Given the description of an element on the screen output the (x, y) to click on. 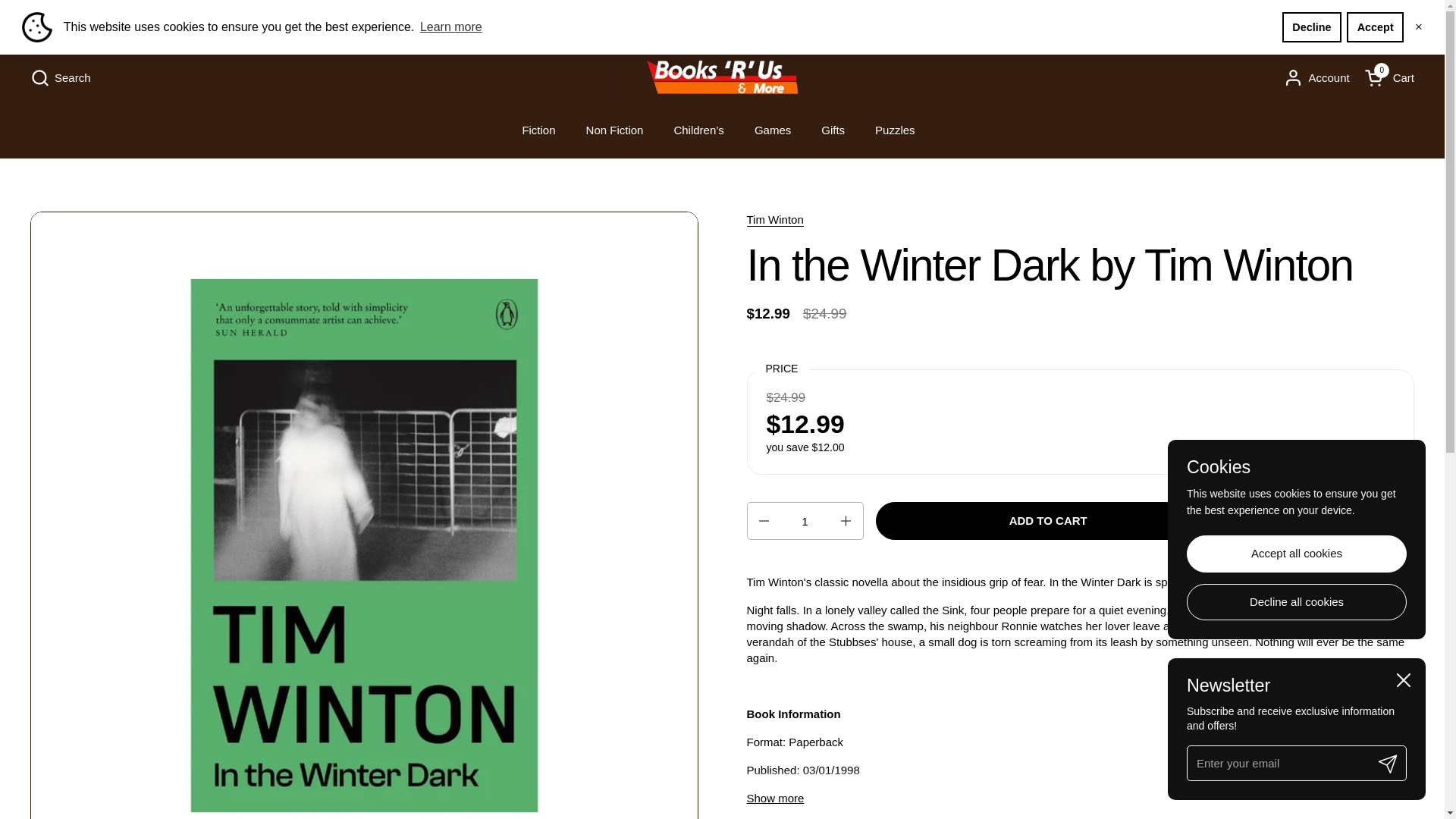
Accept (1374, 27)
Non Fiction (614, 130)
Decline (1311, 27)
Open search (60, 76)
Tim Winton (774, 219)
Tim Winton (774, 219)
Get Directions (1358, 14)
Gifts (833, 130)
Fiction (538, 130)
Open cart (1389, 76)
Search (60, 76)
ADD TO CART (1048, 520)
booksrusandmore (721, 77)
Puzzles (895, 130)
Instagram (69, 14)
